Given the description of an element on the screen output the (x, y) to click on. 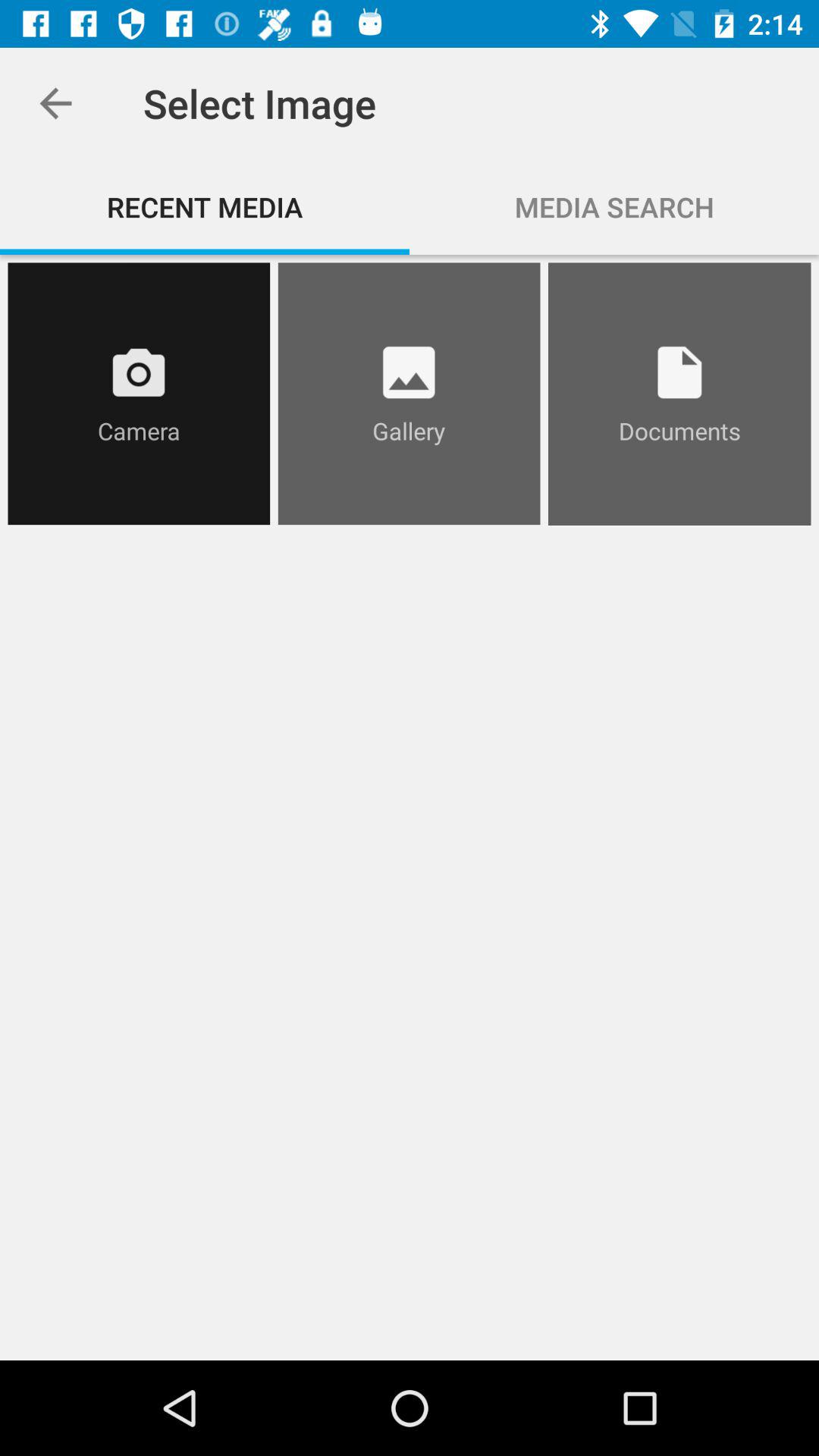
turn off recent media icon (204, 206)
